Given the description of an element on the screen output the (x, y) to click on. 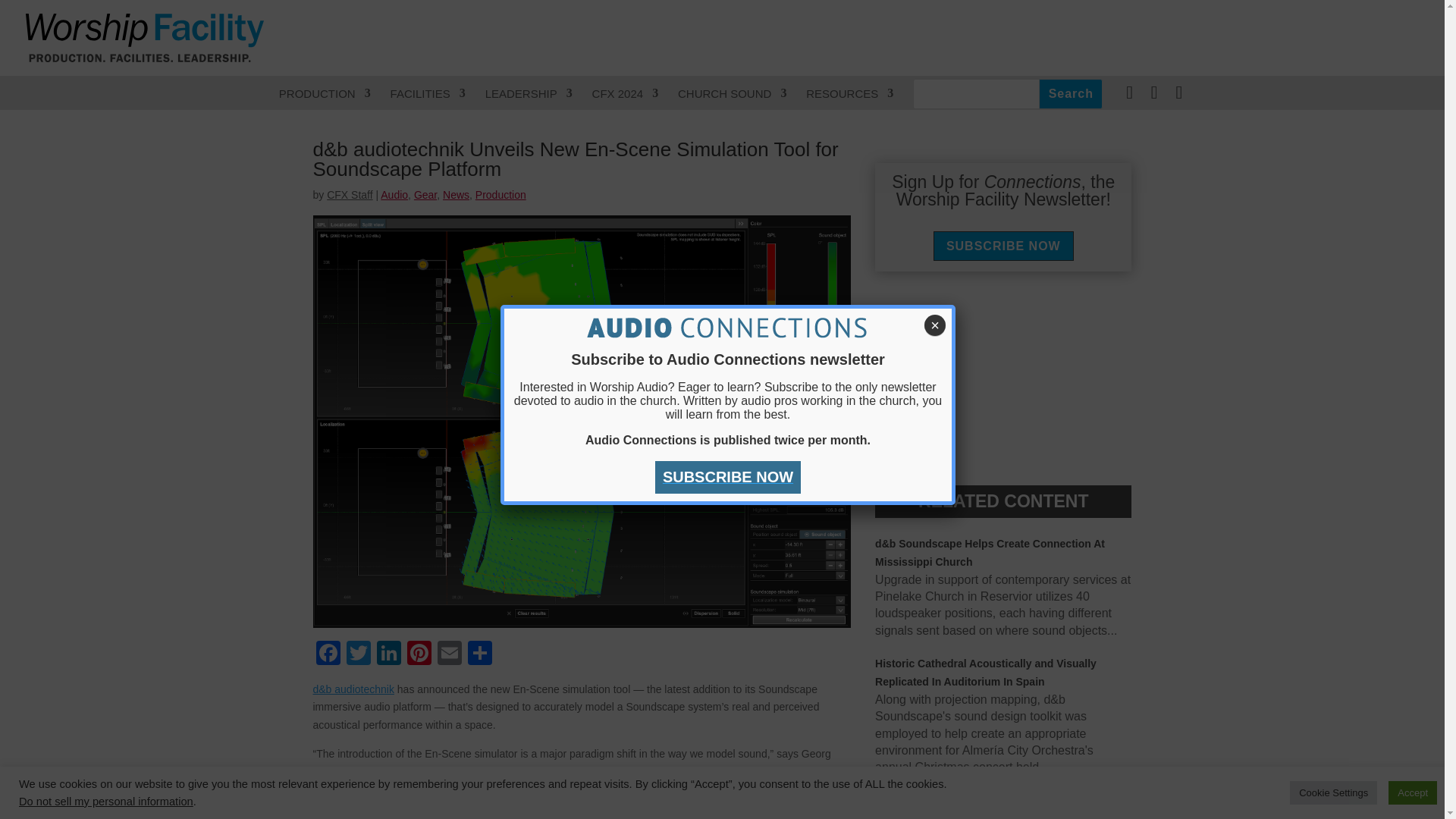
3rd party ad content (1156, 44)
PRODUCTION (325, 93)
CHURCH SOUND (732, 93)
Search (1070, 93)
CFX 2024 (625, 93)
Posts by CFX Staff (349, 194)
LEADERSHIP (528, 93)
RESOURCES (849, 93)
Twitter (357, 654)
FACILITIES (427, 93)
Facebook (327, 654)
LinkedIn (387, 654)
Email (448, 654)
3rd party ad content (1002, 378)
